Given the description of an element on the screen output the (x, y) to click on. 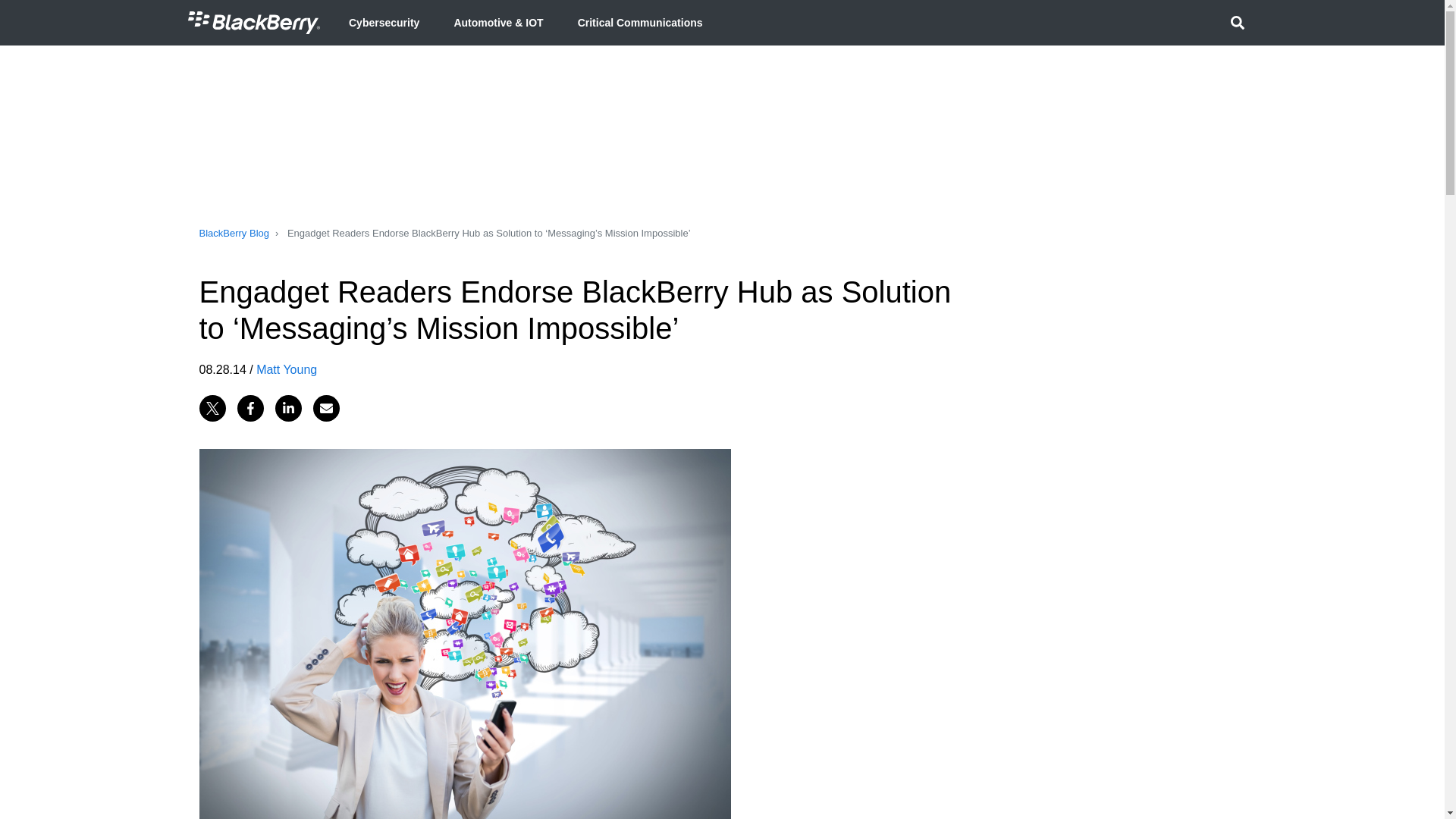
Matt Young (286, 368)
Share on LinkedIn (288, 406)
Share on X (211, 406)
Email (326, 406)
Cybersecurity (383, 22)
Share on LinkedIn (288, 406)
BlackBerry Blog (232, 233)
BlackBerry Logo (253, 22)
Share on X (211, 406)
Share on Facebook (249, 406)
